Given the description of an element on the screen output the (x, y) to click on. 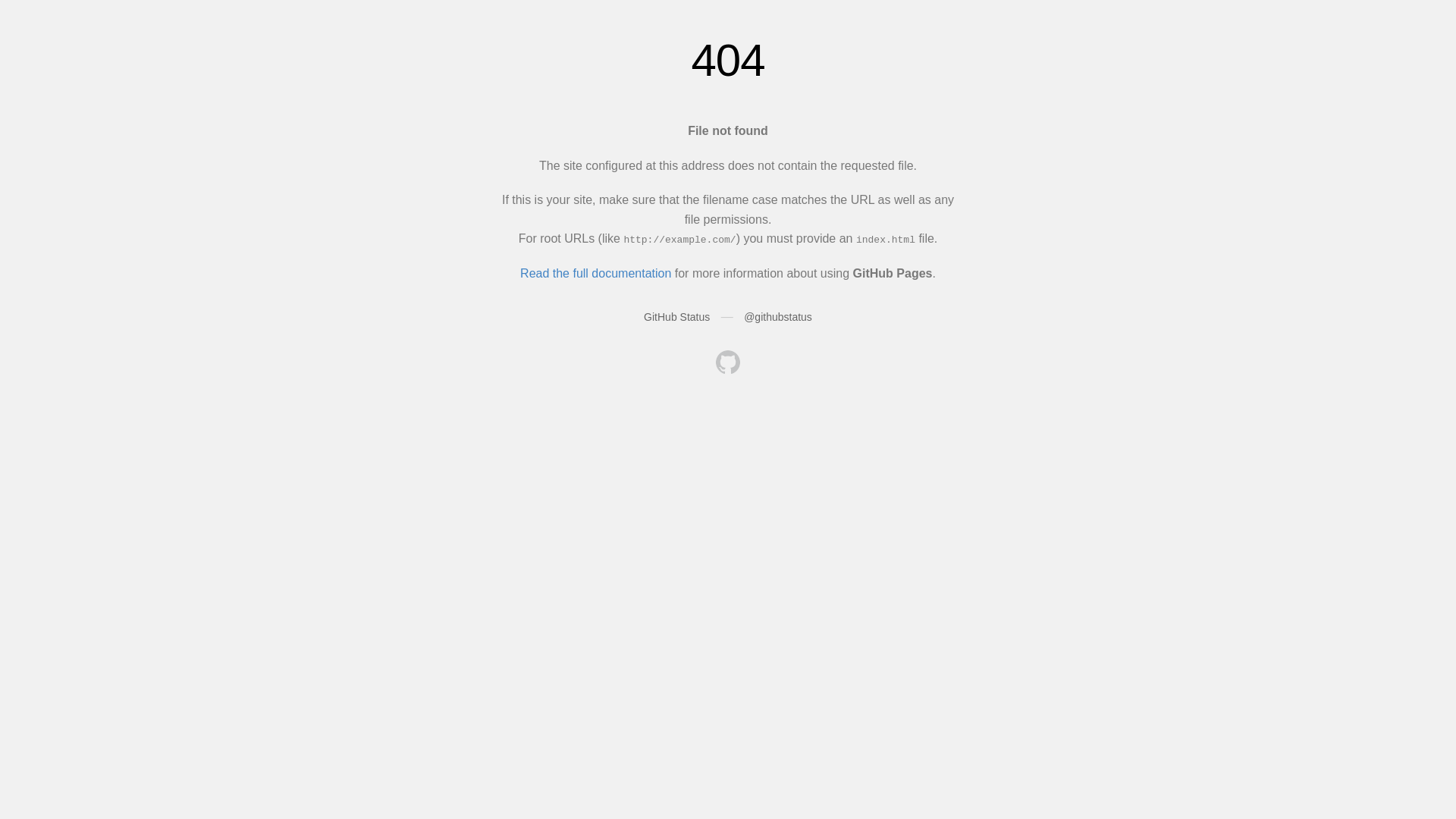
@githubstatus Element type: text (777, 316)
GitHub Status Element type: text (676, 316)
Read the full documentation Element type: text (595, 272)
